Given the description of an element on the screen output the (x, y) to click on. 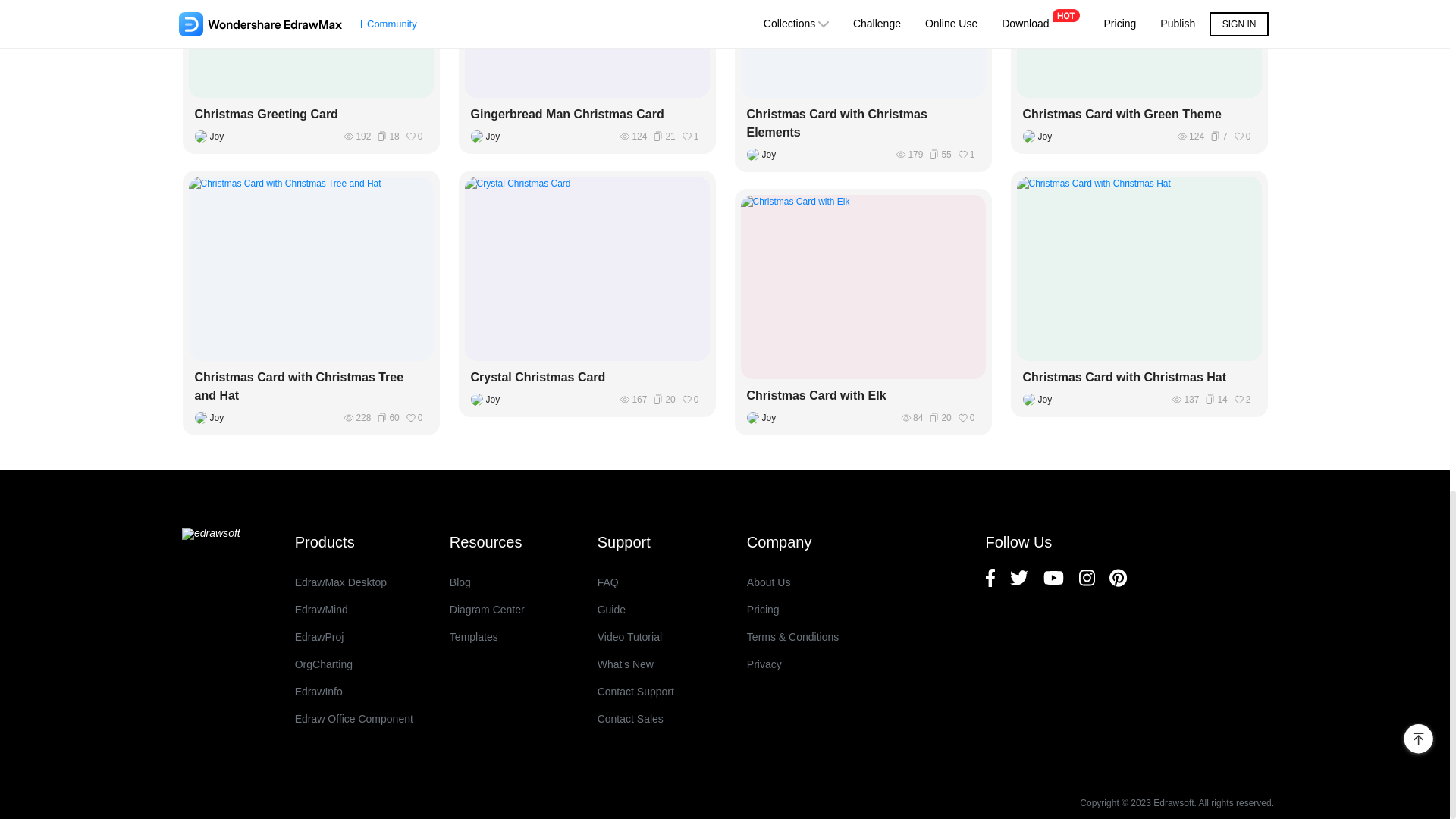
Christmas Greeting Card (310, 114)
Christmas Card with Christmas Elements (862, 123)
Christmas Card with Elk (862, 395)
Joy (488, 136)
Joy (212, 136)
Christmas Card with Elk (862, 395)
Gingerbread Man Christmas Card (587, 114)
Christmas Card with Christmas Tree and Hat (310, 386)
Christmas Card with Green Theme (1139, 114)
EdrawMax Desktop (354, 582)
Christmas Card with Christmas Elements (862, 123)
Joy (764, 418)
Joy (212, 418)
Crystal Christmas Card (587, 377)
Joy (1040, 399)
